Given the description of an element on the screen output the (x, y) to click on. 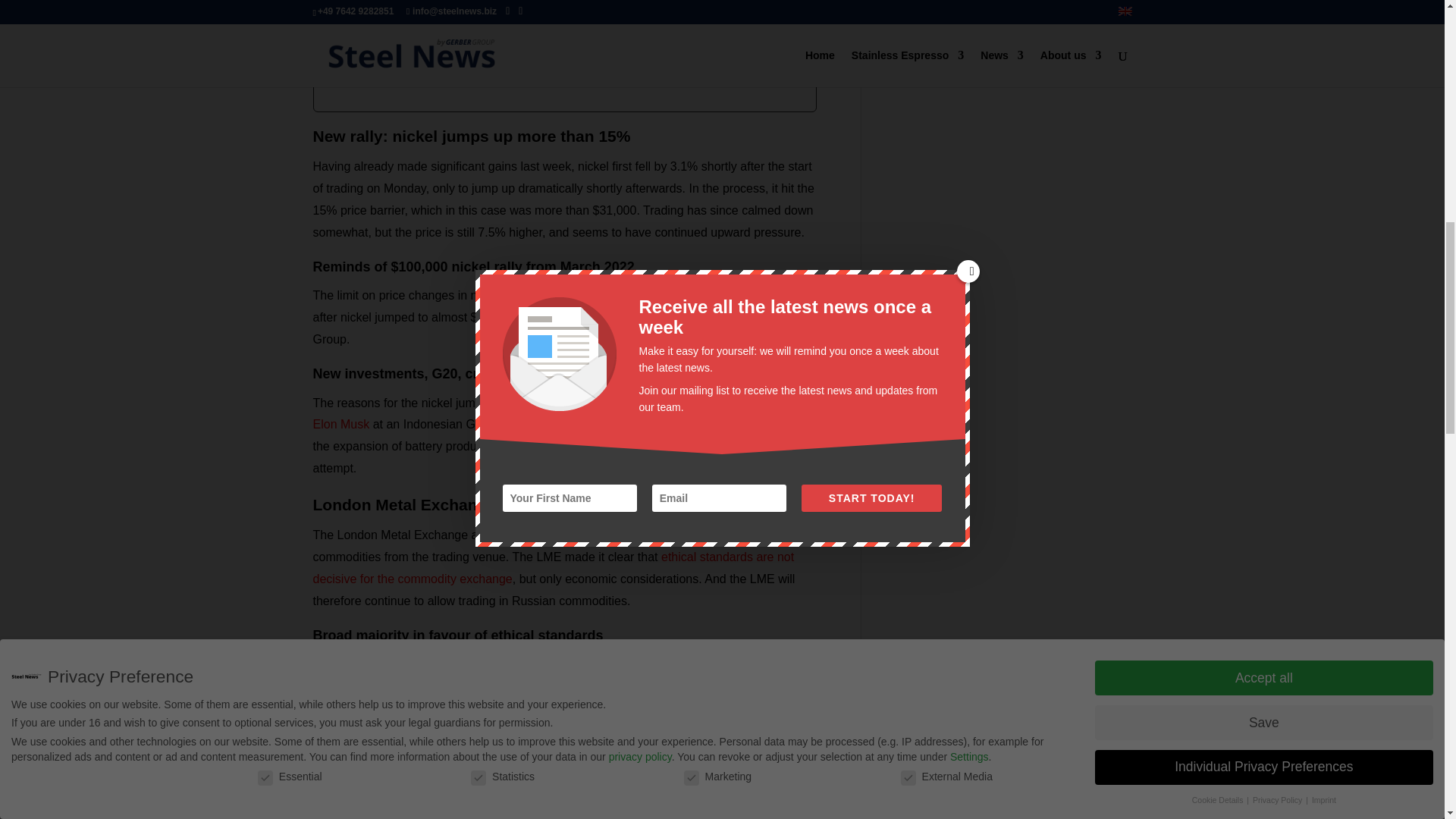
Massive overcapacity built up in liquefied natural gas? (524, 60)
Broad majority in favour of ethical standards (550, 5)
LME again decides against ethical standards (553, 31)
